Given the description of an element on the screen output the (x, y) to click on. 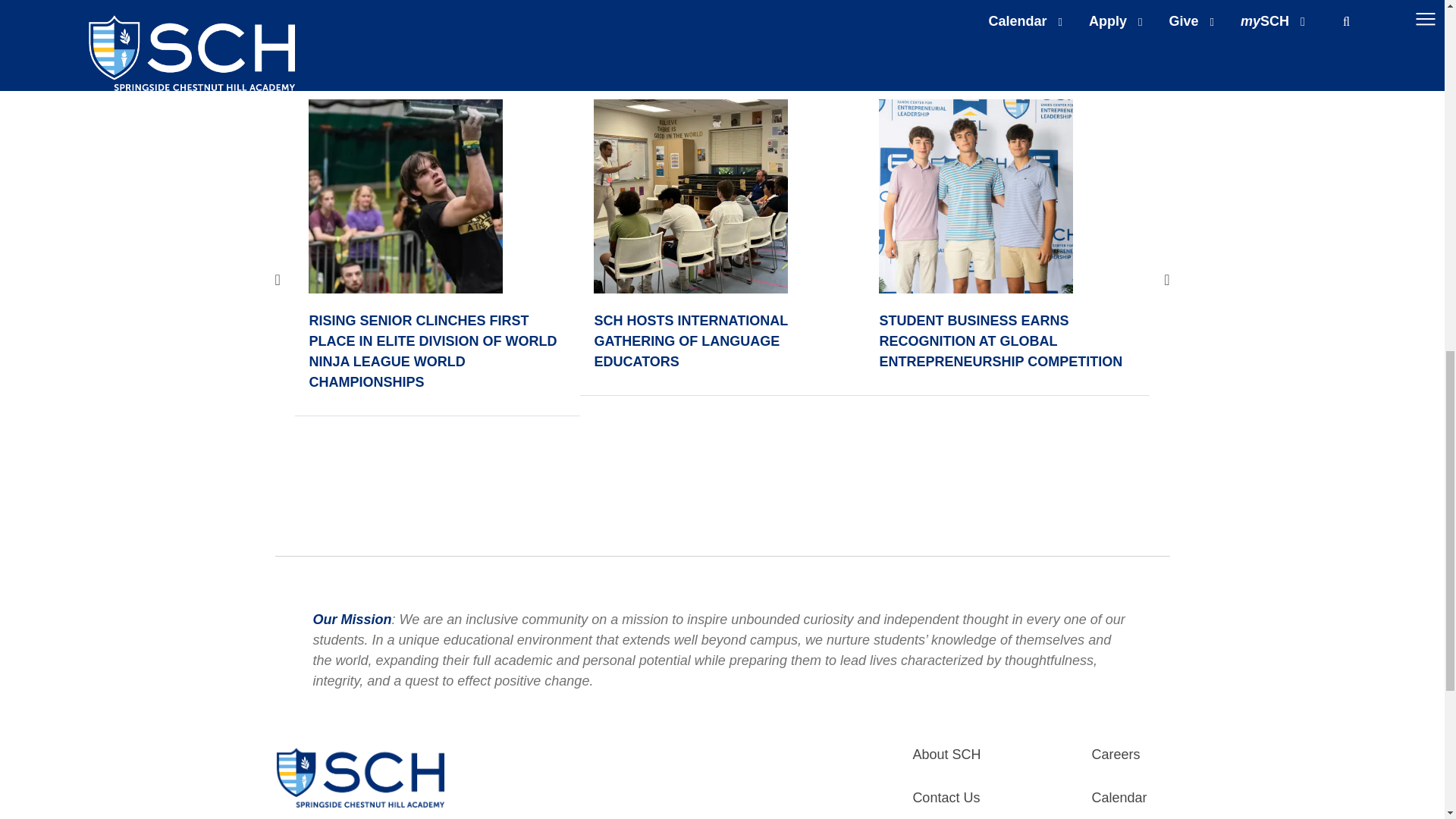
RENTR  (976, 196)
CI Summit (690, 196)
Jackson Erdos (405, 196)
